Given the description of an element on the screen output the (x, y) to click on. 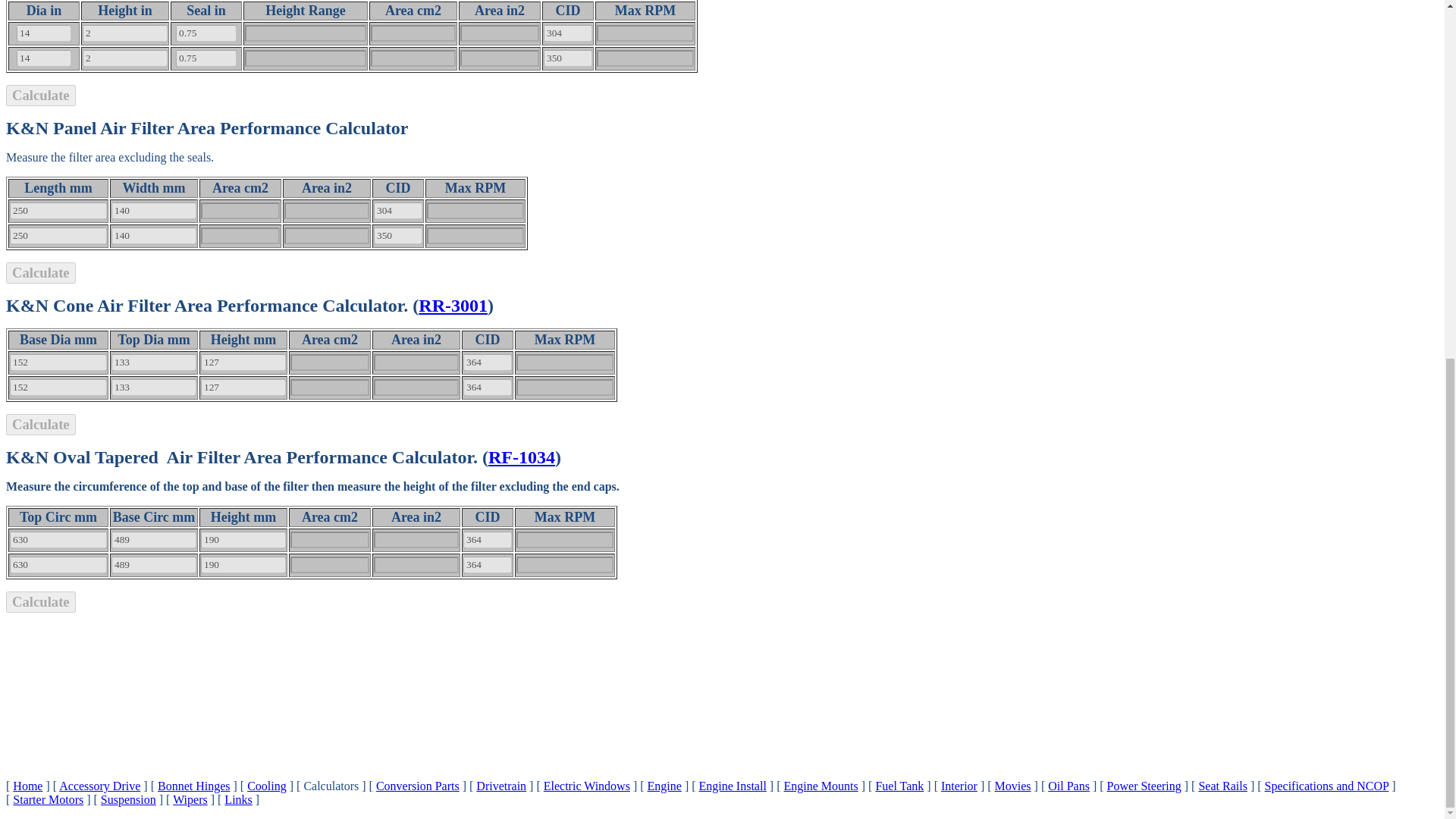
Movies (1012, 785)
Cooling (266, 785)
Drivetrain (500, 785)
RF-1034 (520, 456)
Electric Windows (586, 785)
Interior (958, 785)
Bonnet Hinges (193, 785)
RR-3001 (453, 305)
Home (27, 785)
Accessory Drive (99, 785)
Fuel Tank (899, 785)
Engine Install (732, 785)
Engine (664, 785)
Conversion Parts (417, 785)
Engine Mounts (821, 785)
